Given the description of an element on the screen output the (x, y) to click on. 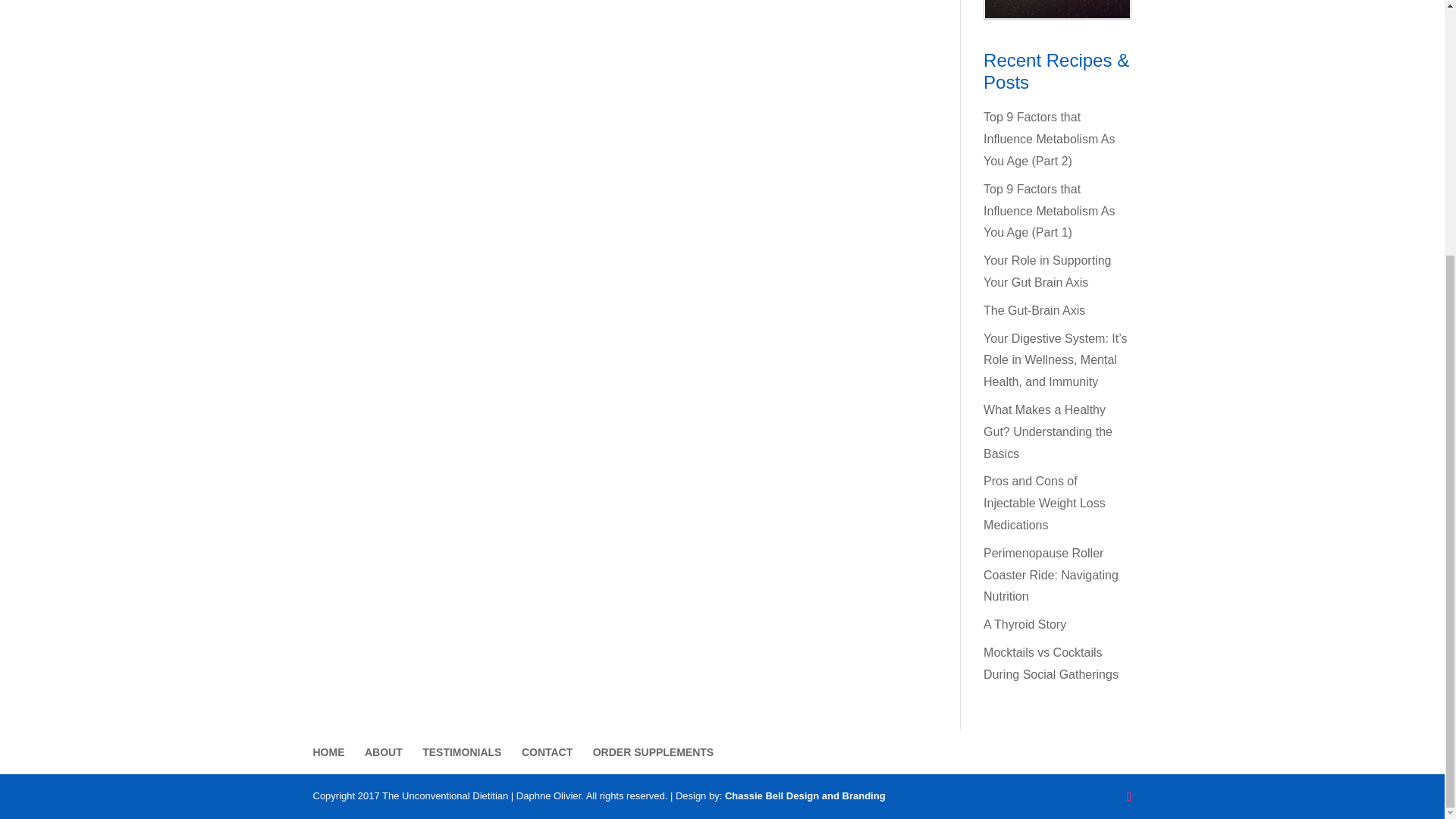
What Makes a Healthy Gut? Understanding the Basics (1048, 431)
The Gut-Brain Axis (1034, 309)
Pros and Cons of Injectable Weight Loss Medications (1044, 503)
Your Role in Supporting Your Gut Brain Axis (1047, 271)
